Given the description of an element on the screen output the (x, y) to click on. 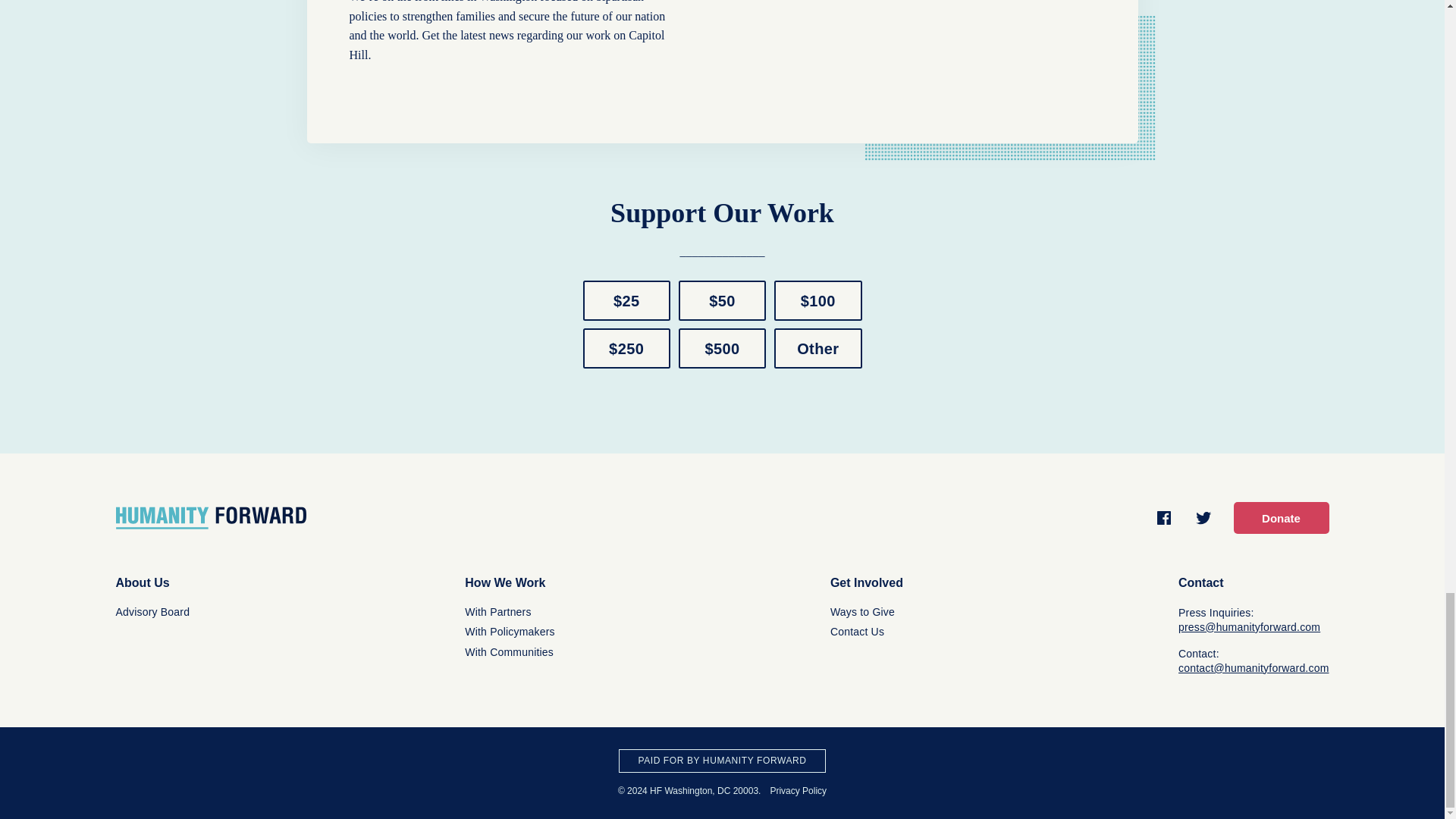
With Communities (508, 652)
How We Work (504, 582)
With Partners (497, 612)
With Policymakers (509, 631)
About Us (141, 582)
Other (817, 348)
Donate (1280, 517)
Twitter (1202, 517)
Facebook (1163, 517)
Advisory Board (152, 612)
